Given the description of an element on the screen output the (x, y) to click on. 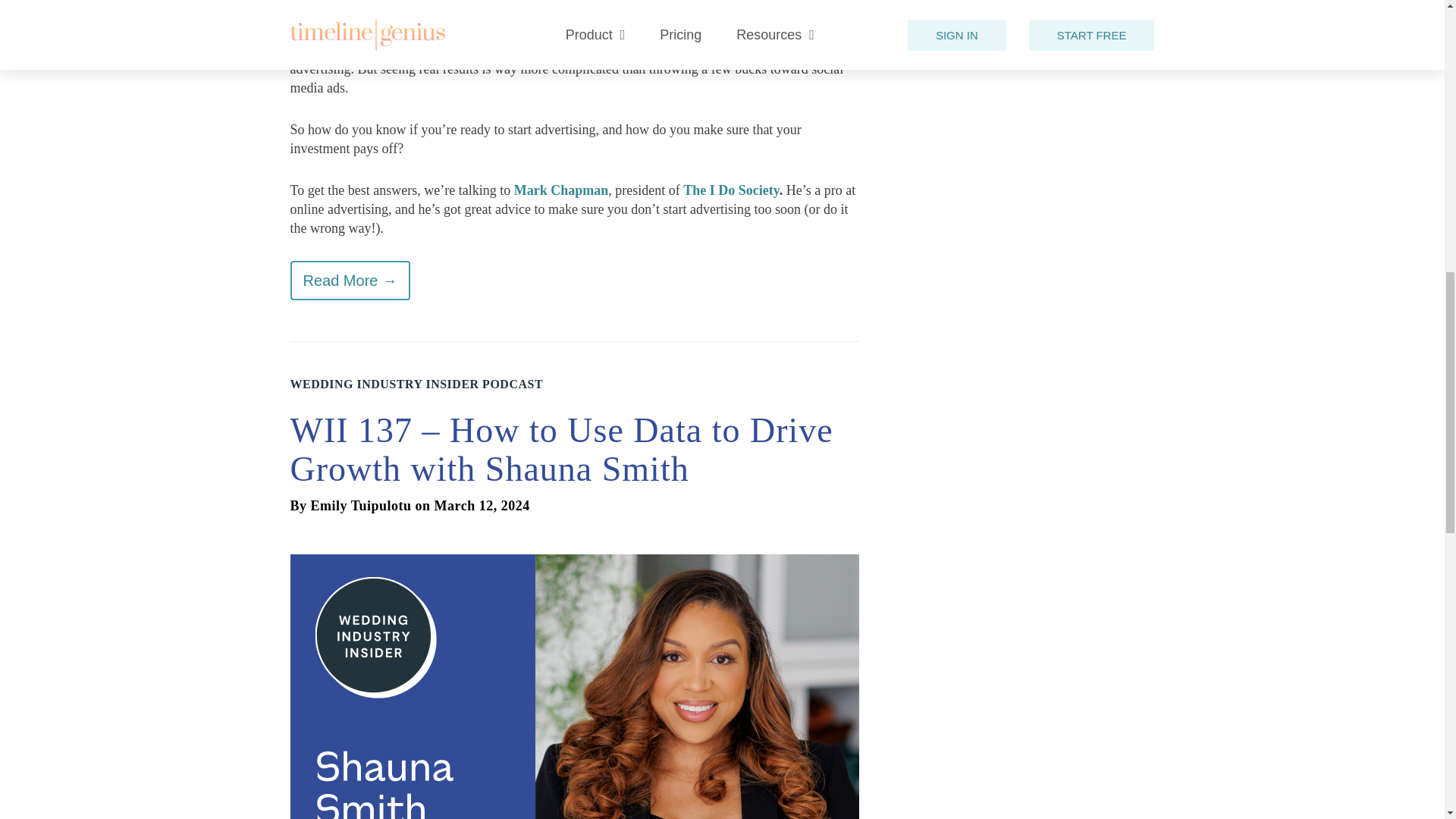
 Wedding Industry Insider Podcast  (416, 383)
Subscribe via RSS (362, 7)
